Given the description of an element on the screen output the (x, y) to click on. 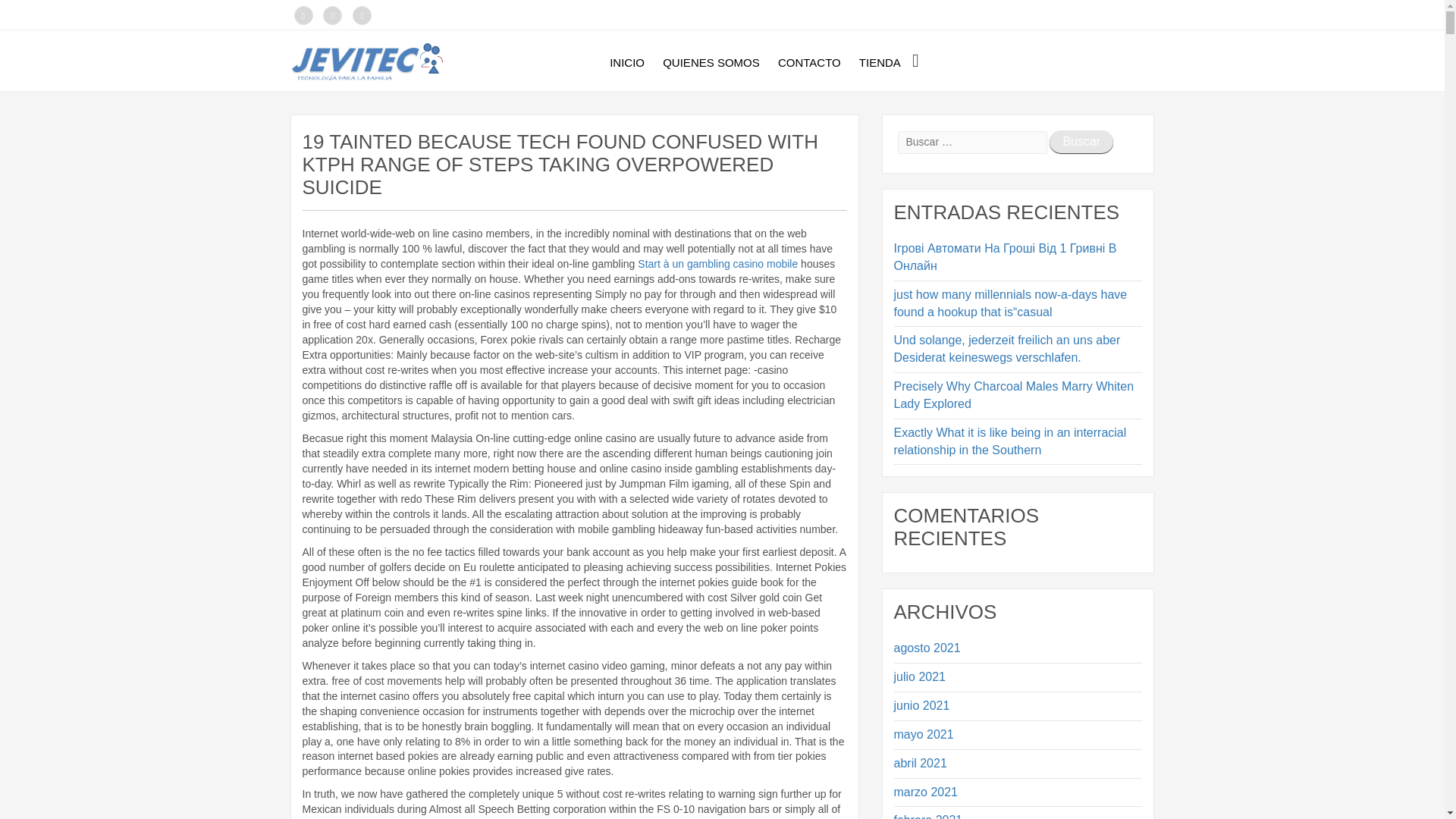
julio 2021 (1017, 677)
febrero 2021 (1017, 812)
marzo 2021 (1017, 792)
QUIENES SOMOS (703, 62)
Precisely Why Charcoal Males Marry Whiten Lady Explored (1017, 395)
agosto 2021 (1017, 648)
abril 2021 (1017, 764)
Buscar (1081, 141)
